Given the description of an element on the screen output the (x, y) to click on. 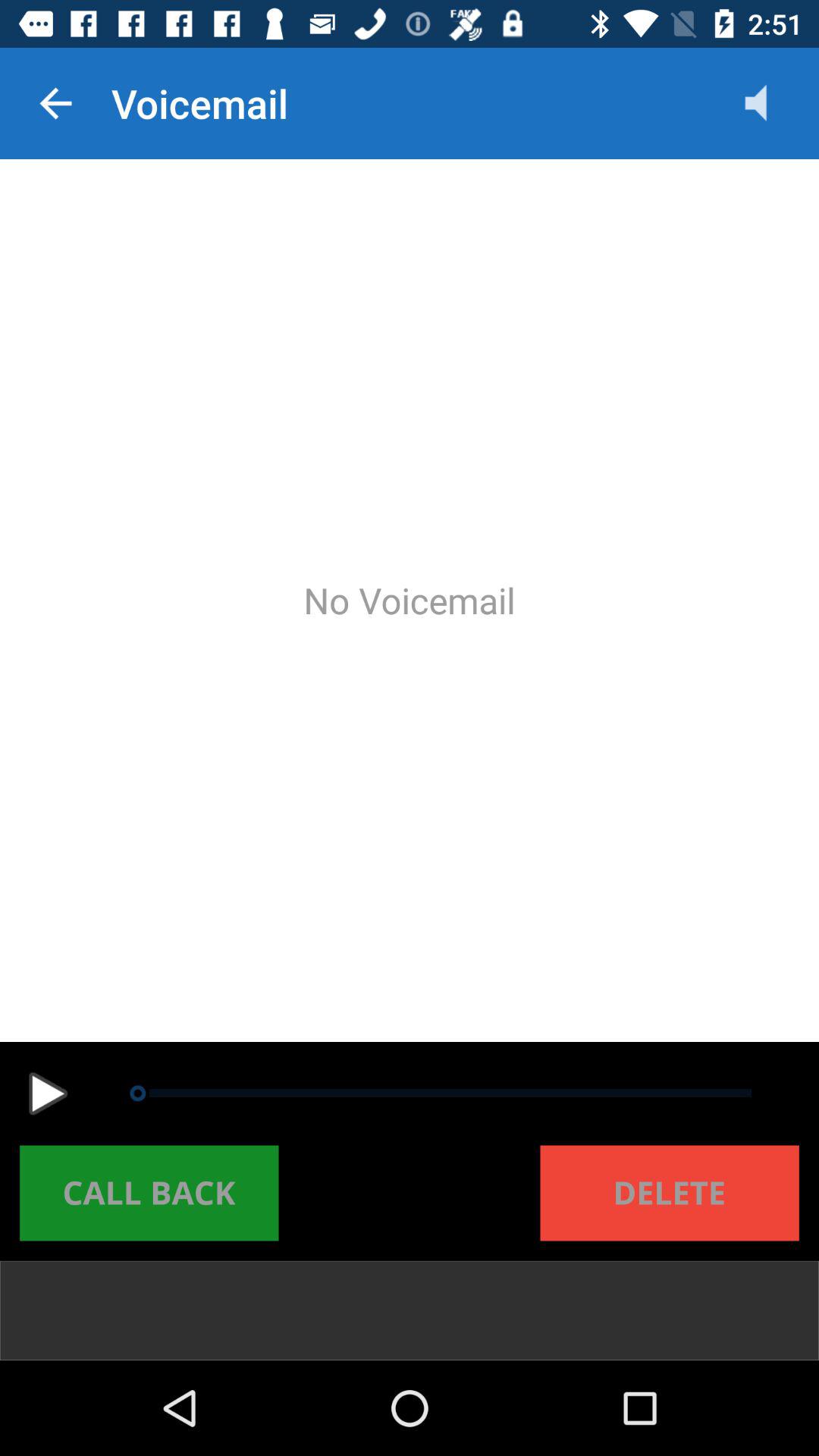
choose the delete (669, 1193)
